Given the description of an element on the screen output the (x, y) to click on. 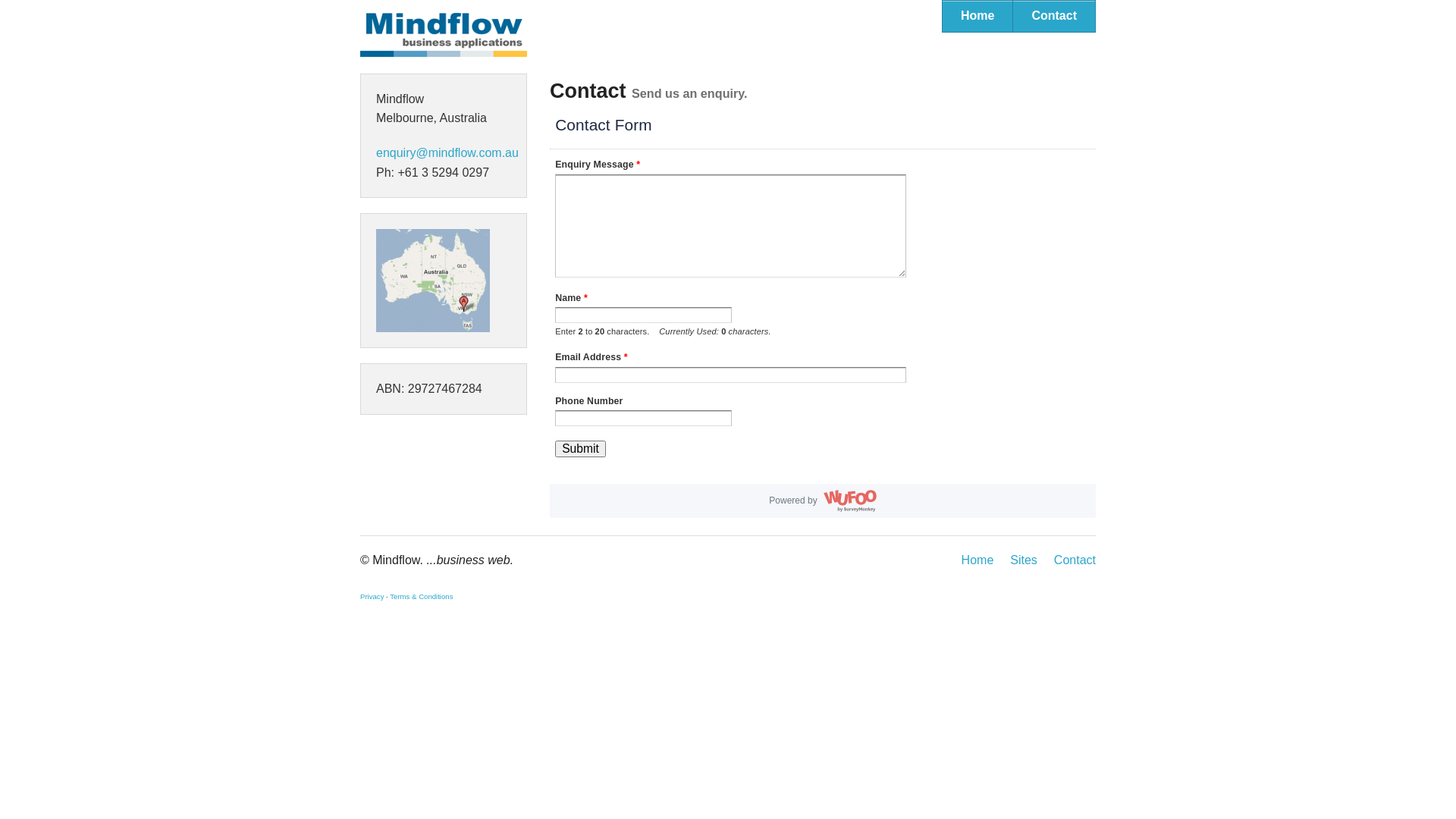
Terms & Conditions Element type: text (420, 596)
enquiry@mindflow.com.au Element type: text (447, 152)
Home Element type: text (977, 560)
Privacy Element type: text (371, 596)
Contact Element type: text (1074, 560)
Contact Element type: text (1053, 16)
Sites Element type: text (1023, 560)
Home Element type: text (977, 16)
